Given the description of an element on the screen output the (x, y) to click on. 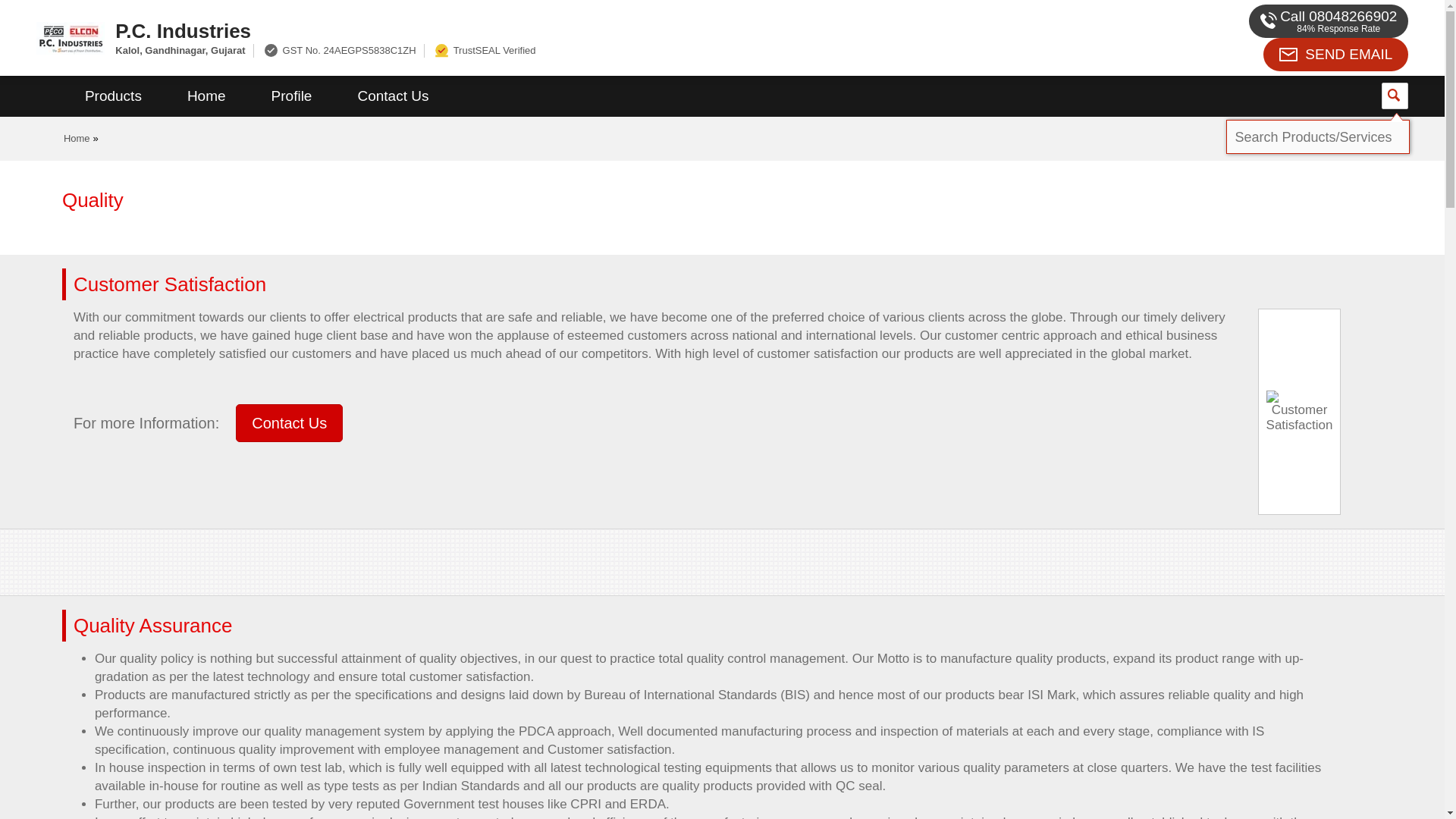
Home (206, 96)
Products (113, 96)
P.C. Industries (552, 31)
Profile (291, 96)
